Given the description of an element on the screen output the (x, y) to click on. 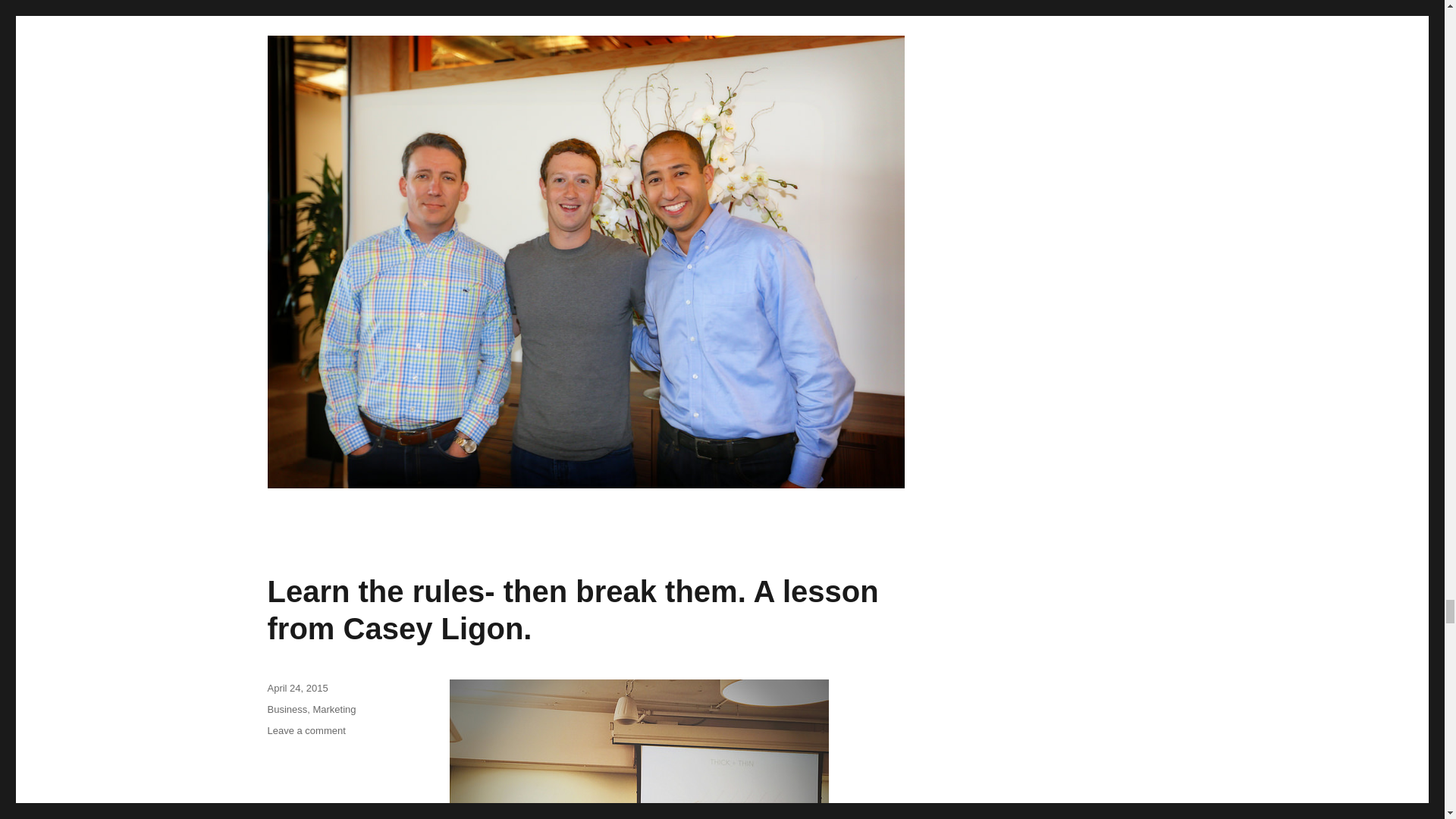
Learn the rules- then break them. A lesson from Casey Ligon. (571, 609)
April 24, 2015 (296, 687)
Business (286, 708)
